Given the description of an element on the screen output the (x, y) to click on. 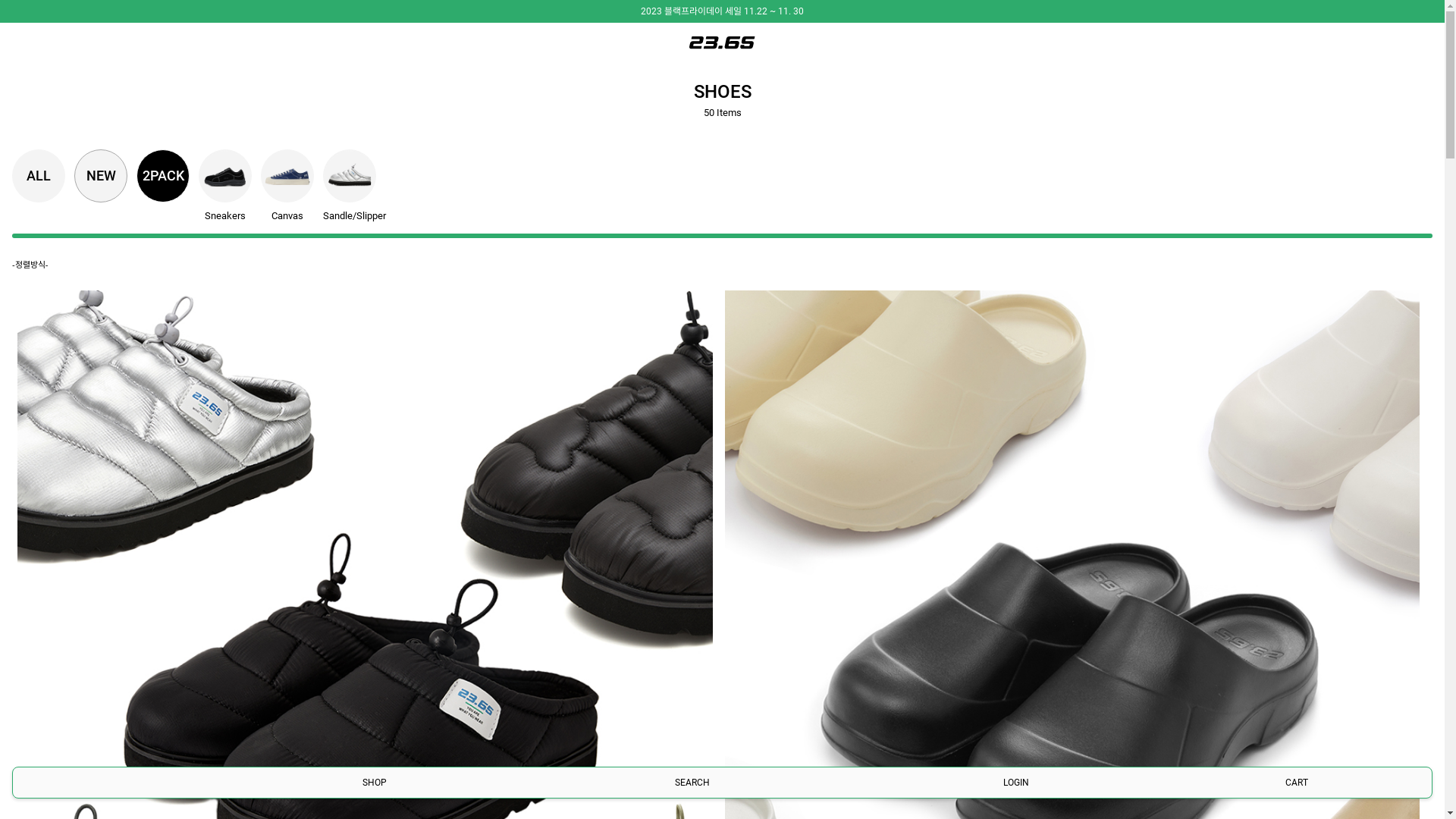
SEARCH Element type: text (692, 782)
SHOP Element type: text (374, 782)
MENU Element type: text (122, 781)
ALL Element type: text (38, 175)
LOGIN Element type: text (1015, 782)
NEW Element type: text (100, 175)
2PACK Element type: text (162, 175)
SHOES Element type: text (721, 91)
CART Element type: text (1296, 782)
